Given the description of an element on the screen output the (x, y) to click on. 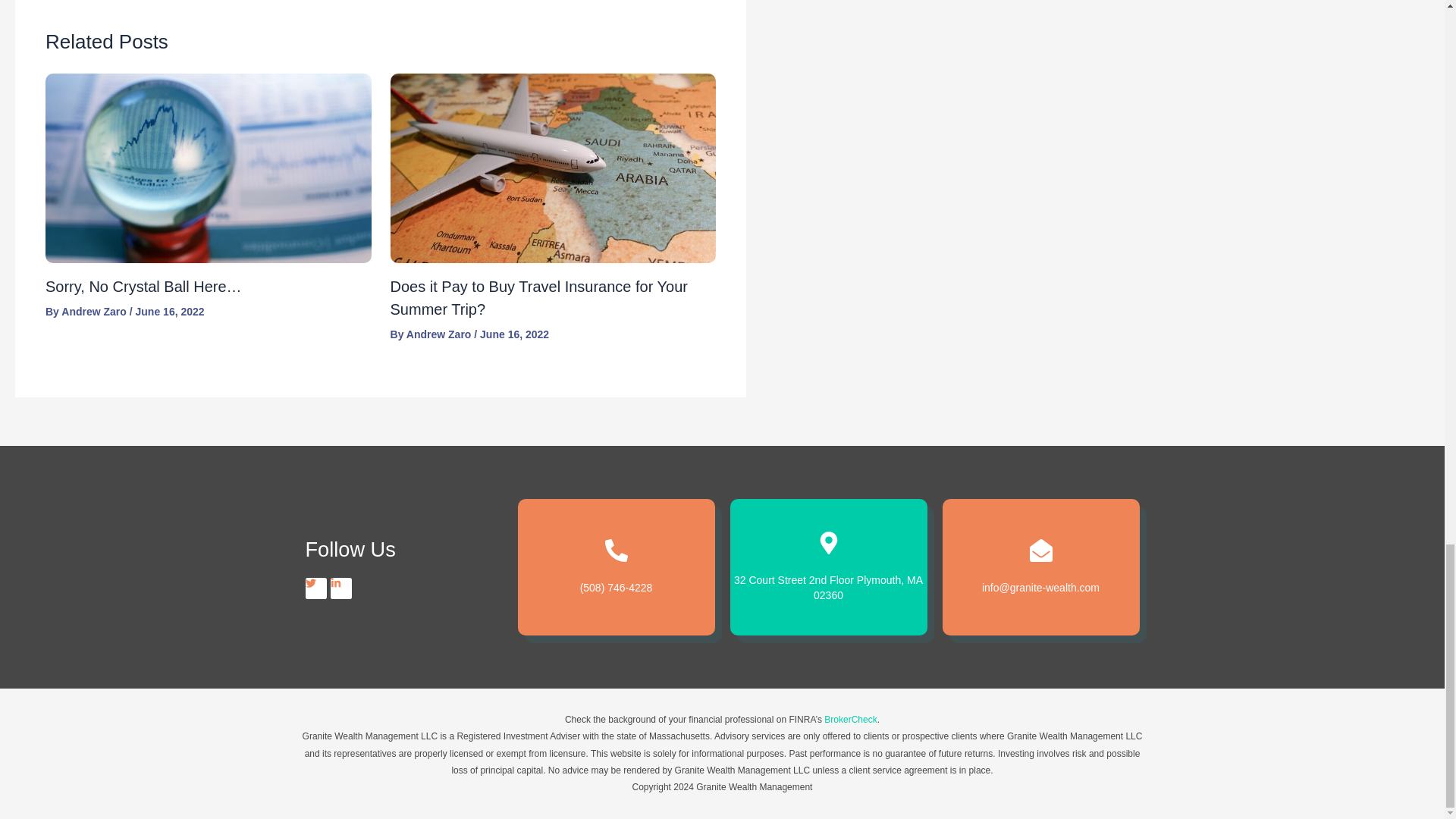
BrokerCheck (850, 719)
Andrew Zaro (440, 334)
Twitter (315, 588)
View all posts by Andrew Zaro (440, 334)
Does it Pay to Buy Travel Insurance for Your Summer Trip? (538, 297)
Andrew Zaro (95, 311)
View all posts by Andrew Zaro (95, 311)
Linkedin-in (341, 588)
